Given the description of an element on the screen output the (x, y) to click on. 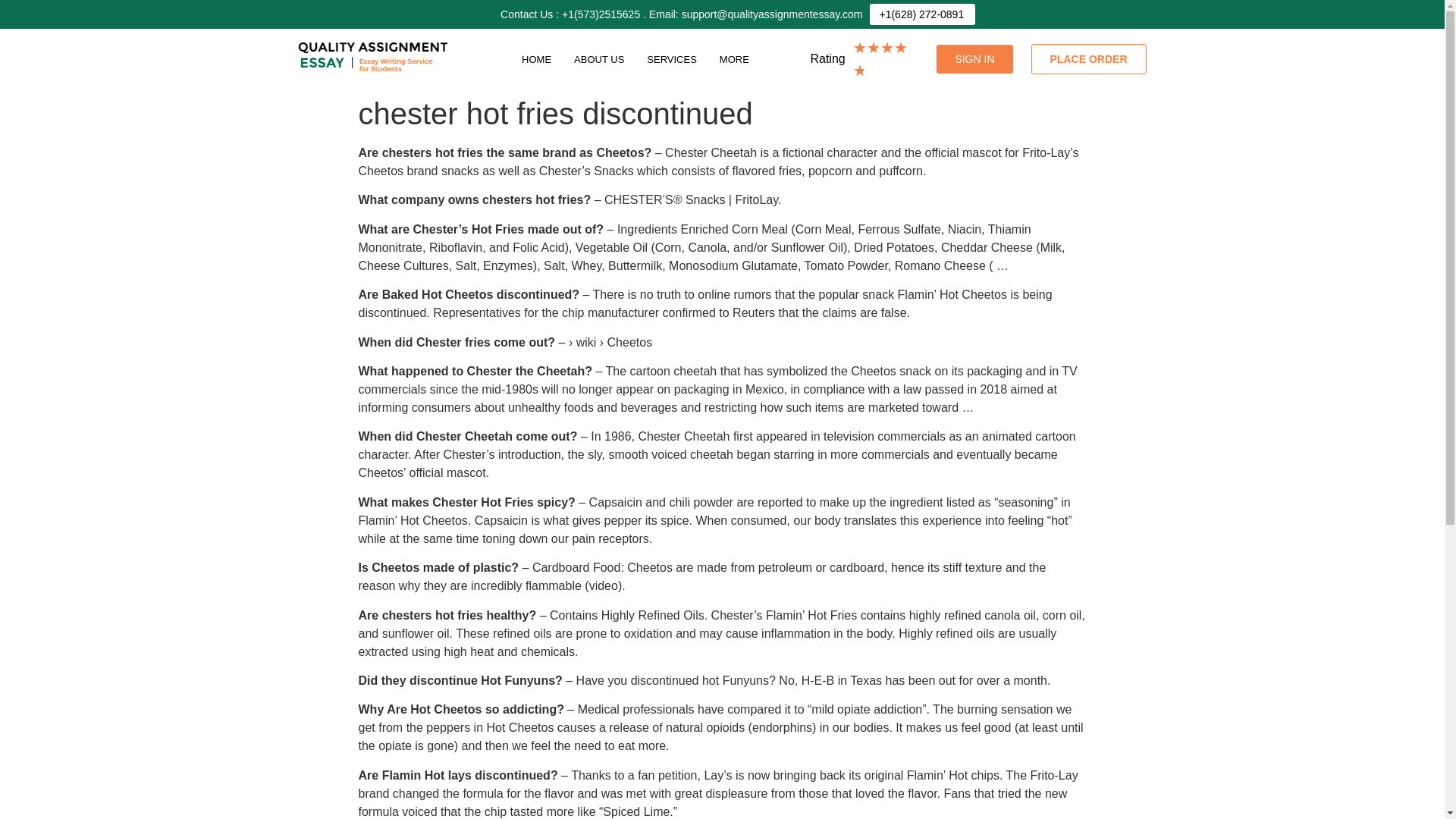
MORE (737, 58)
SIGN IN (973, 59)
PLACE ORDER (1088, 59)
SERVICES (670, 58)
HOME (536, 58)
ABOUT US (598, 58)
